Given the description of an element on the screen output the (x, y) to click on. 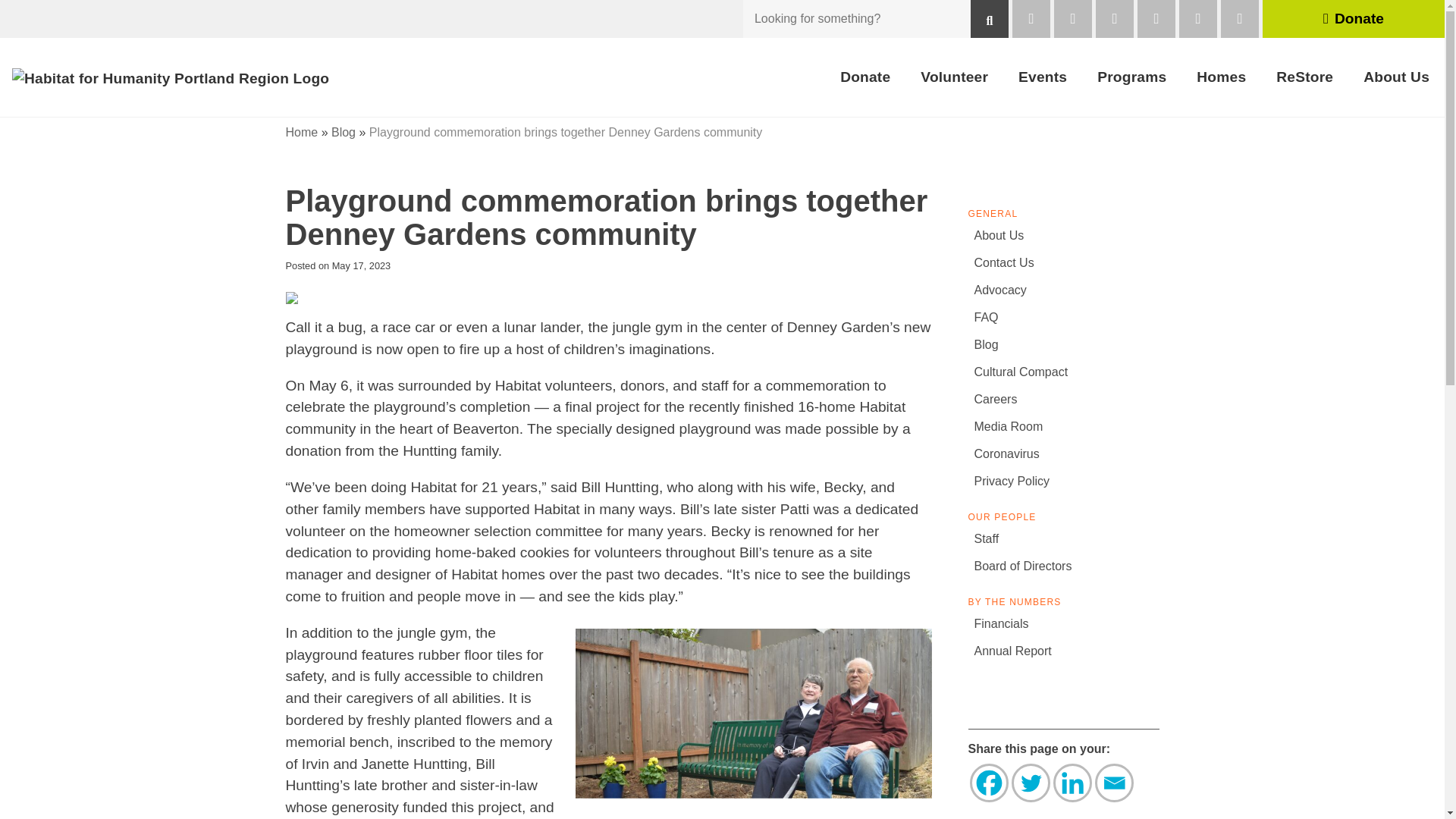
Programs (1130, 77)
Donate (865, 77)
Email (1114, 782)
ReStore (1304, 77)
Volunteer (954, 77)
Linkedin (1071, 782)
Homes (1220, 77)
Events (1042, 77)
Twitter (1030, 782)
Facebook (988, 782)
